Given the description of an element on the screen output the (x, y) to click on. 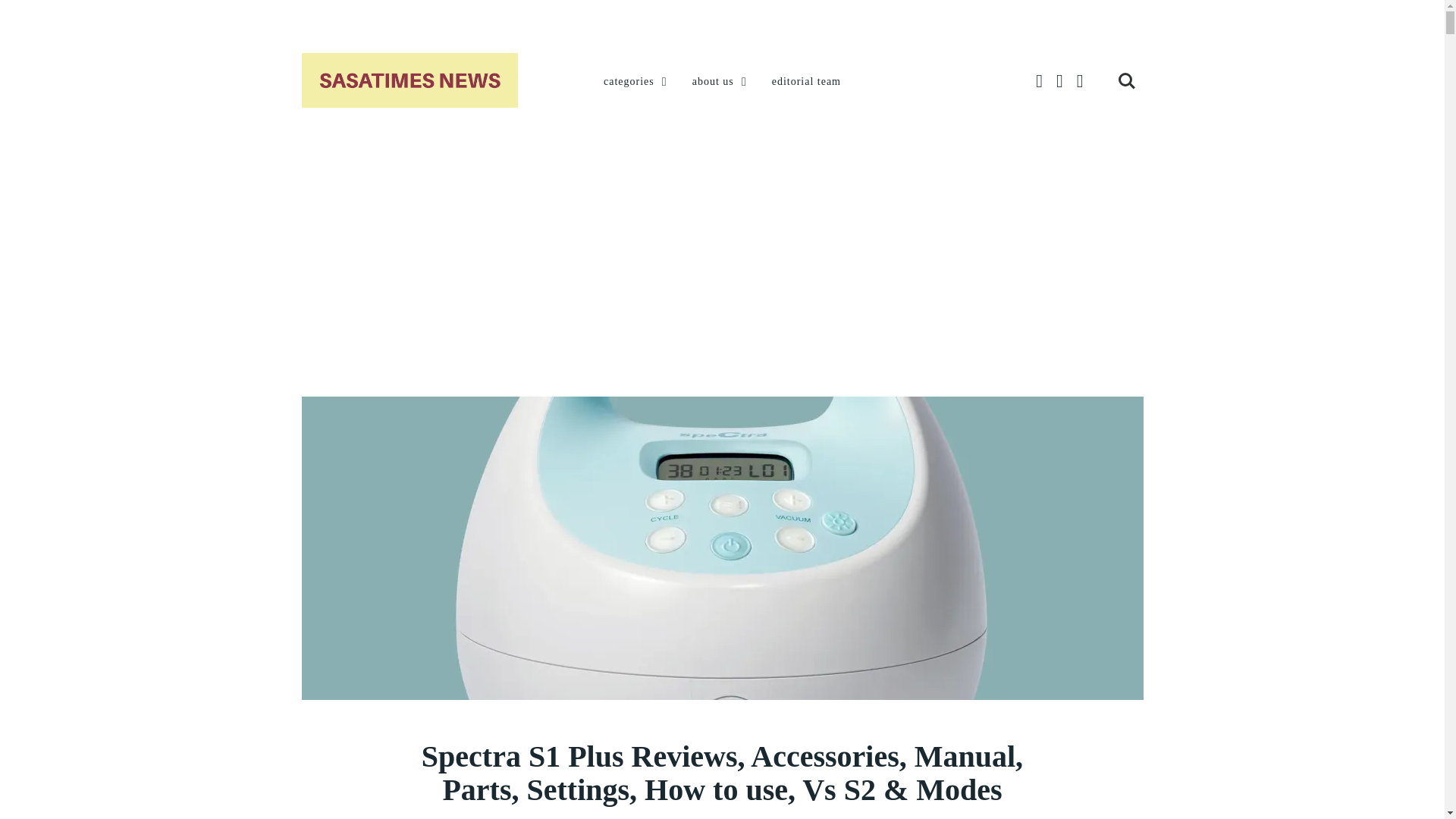
about us (721, 81)
editorial team (806, 81)
categories (636, 81)
